Given the description of an element on the screen output the (x, y) to click on. 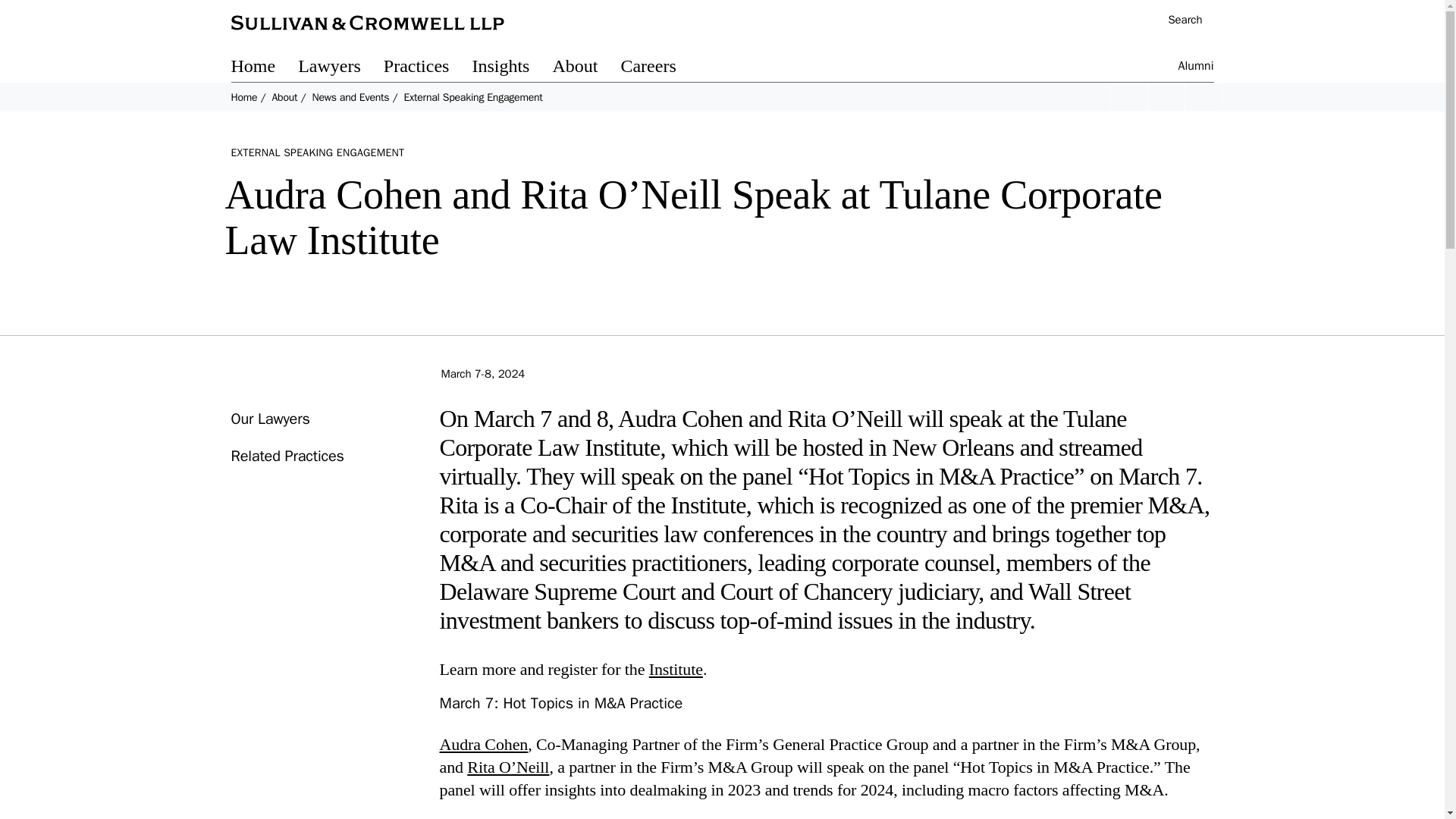
Practices (427, 67)
About (585, 67)
Alumni (1195, 67)
Home (243, 97)
Audra Cohen (483, 743)
Insights (511, 67)
Lawyers (341, 67)
Institute (676, 669)
Our Lawyers (269, 418)
Audra Cohen (483, 743)
Search (1176, 20)
Careers (659, 67)
News and Events (349, 97)
Home (264, 67)
Related Practices (286, 456)
